Given the description of an element on the screen output the (x, y) to click on. 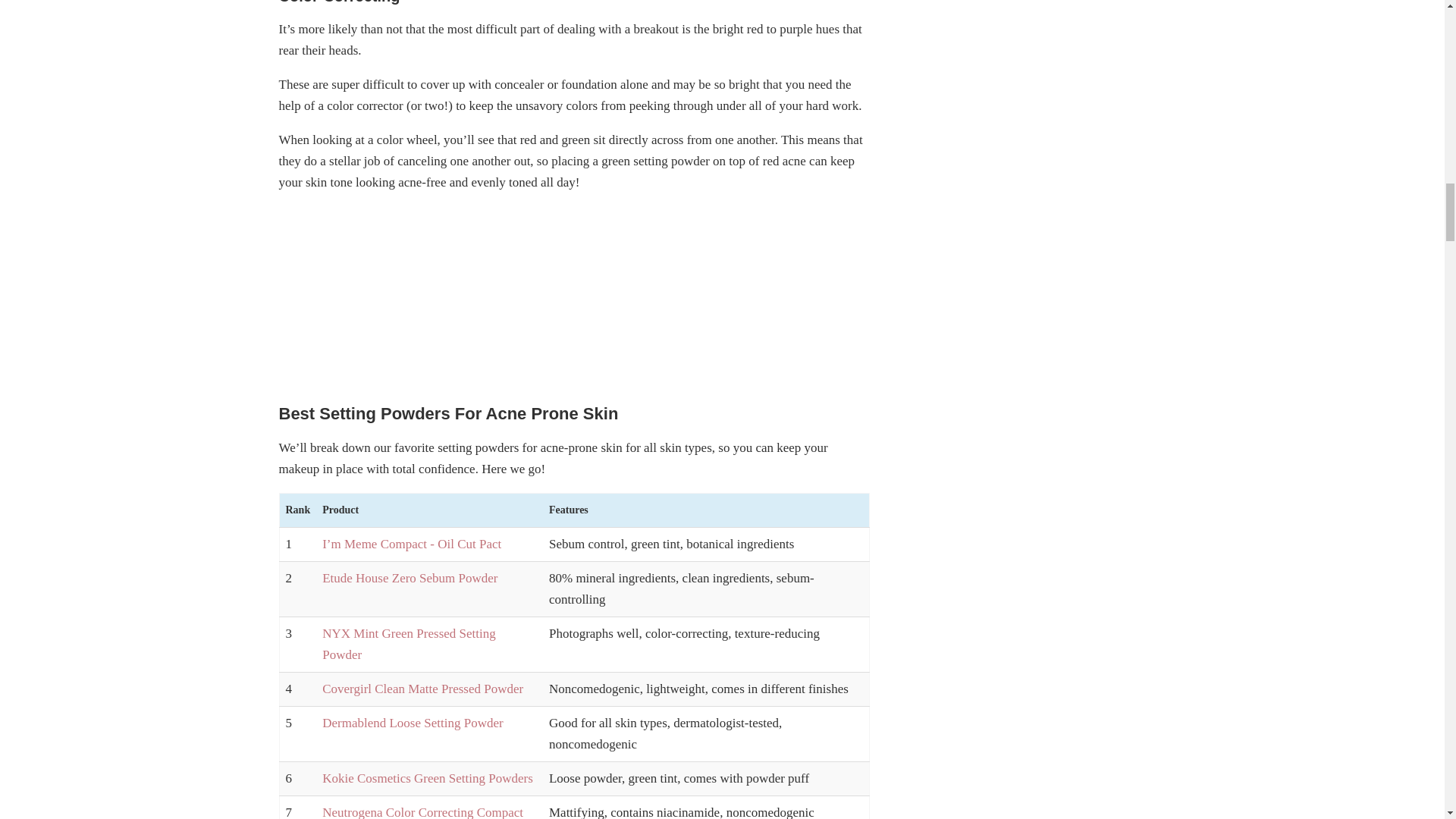
Dermablend Loose Setting Powder (411, 722)
NYX Mint Green Pressed Setting Powder (408, 643)
Etude House Zero Sebum Powder (409, 577)
Covergirl Clean Matte Pressed Powder (421, 688)
Neutrogena Color Correcting Compact (421, 812)
Kokie Cosmetics Green Setting Powders (426, 778)
